Given the description of an element on the screen output the (x, y) to click on. 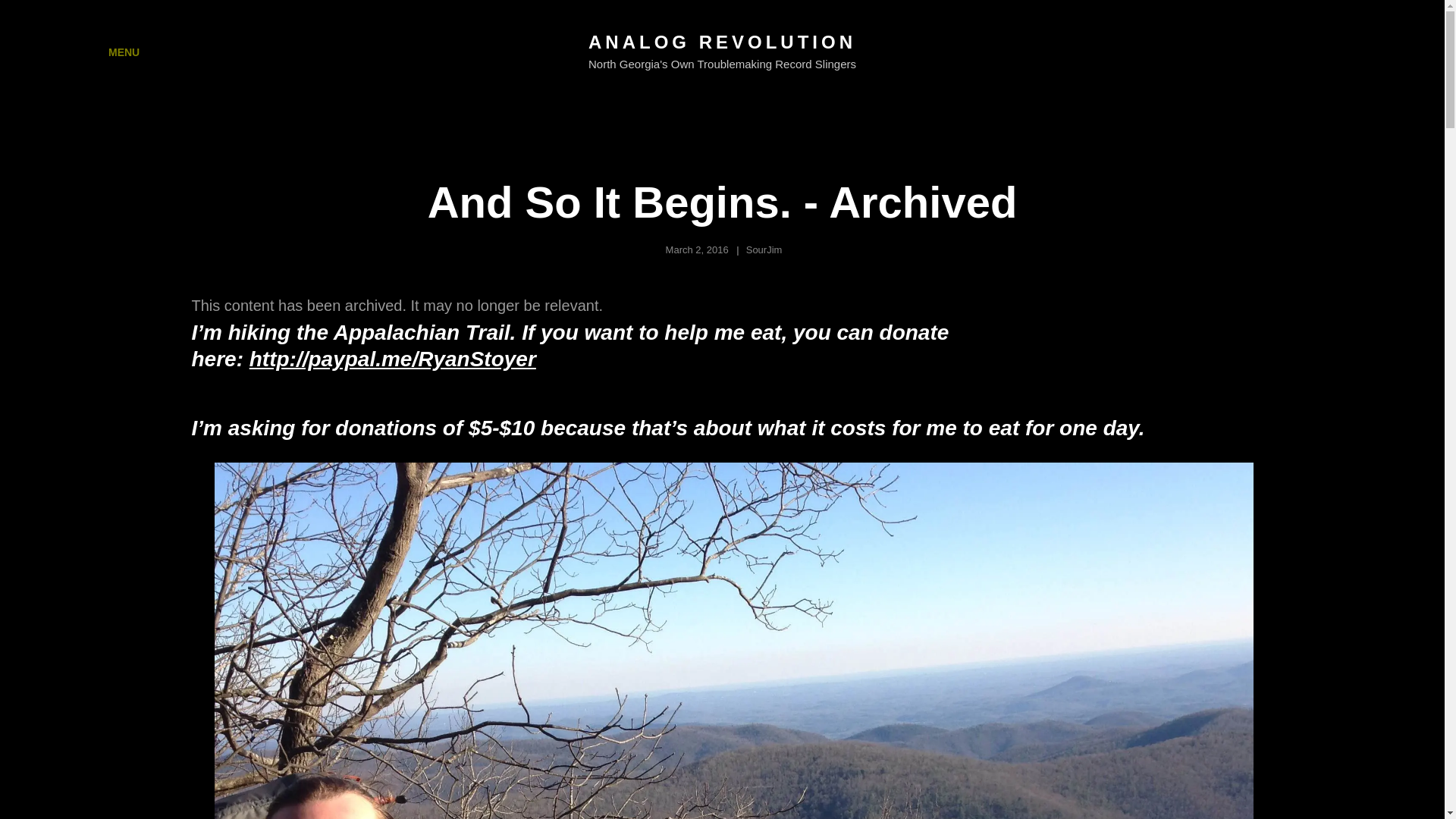
ANALOG REVOLUTION (722, 41)
March 2, 2016 (697, 249)
SourJim (764, 249)
Search (1354, 52)
MENU (109, 52)
